Given the description of an element on the screen output the (x, y) to click on. 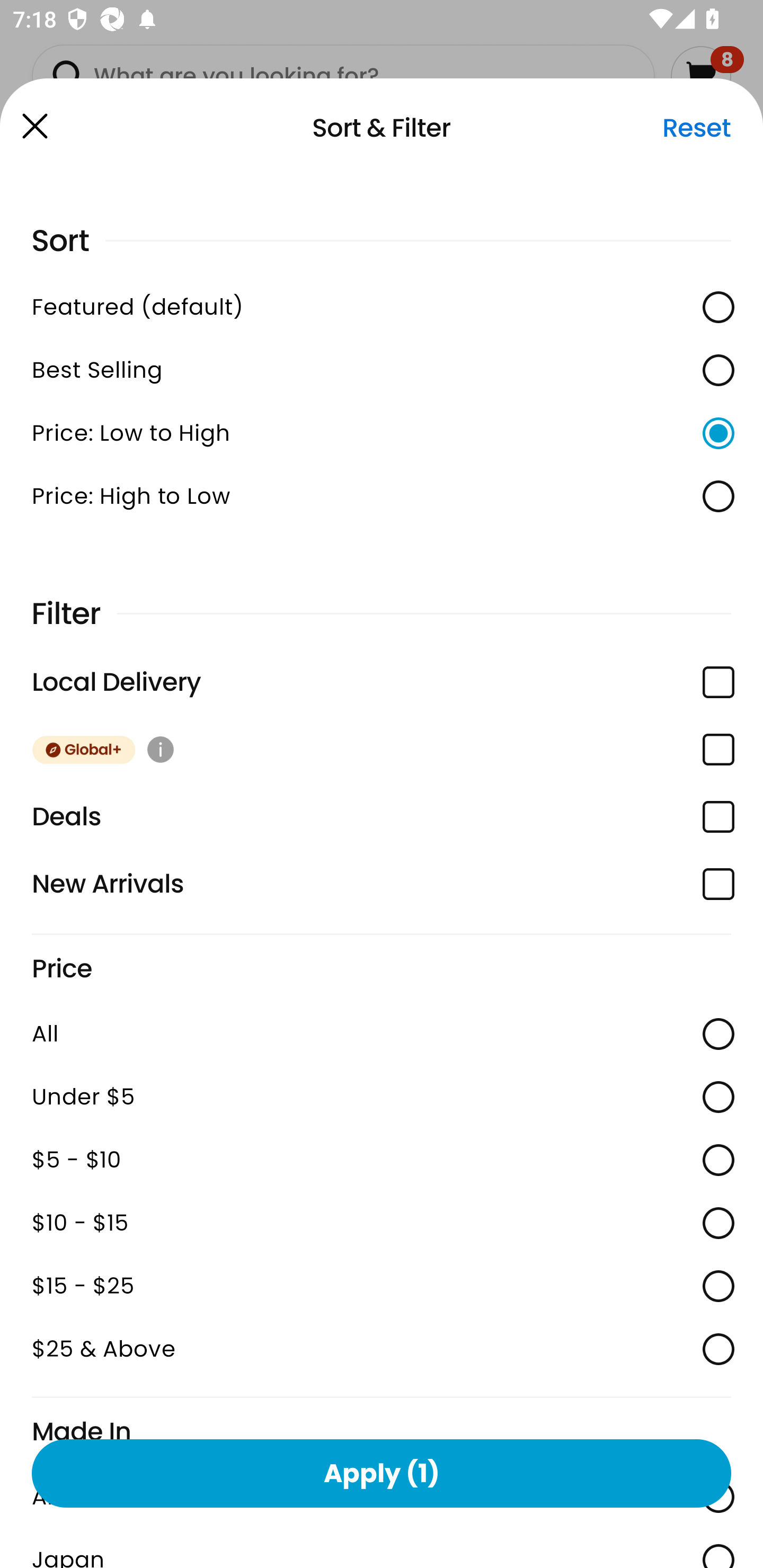
Reset (696, 127)
Apply (1) (381, 1472)
